Given the description of an element on the screen output the (x, y) to click on. 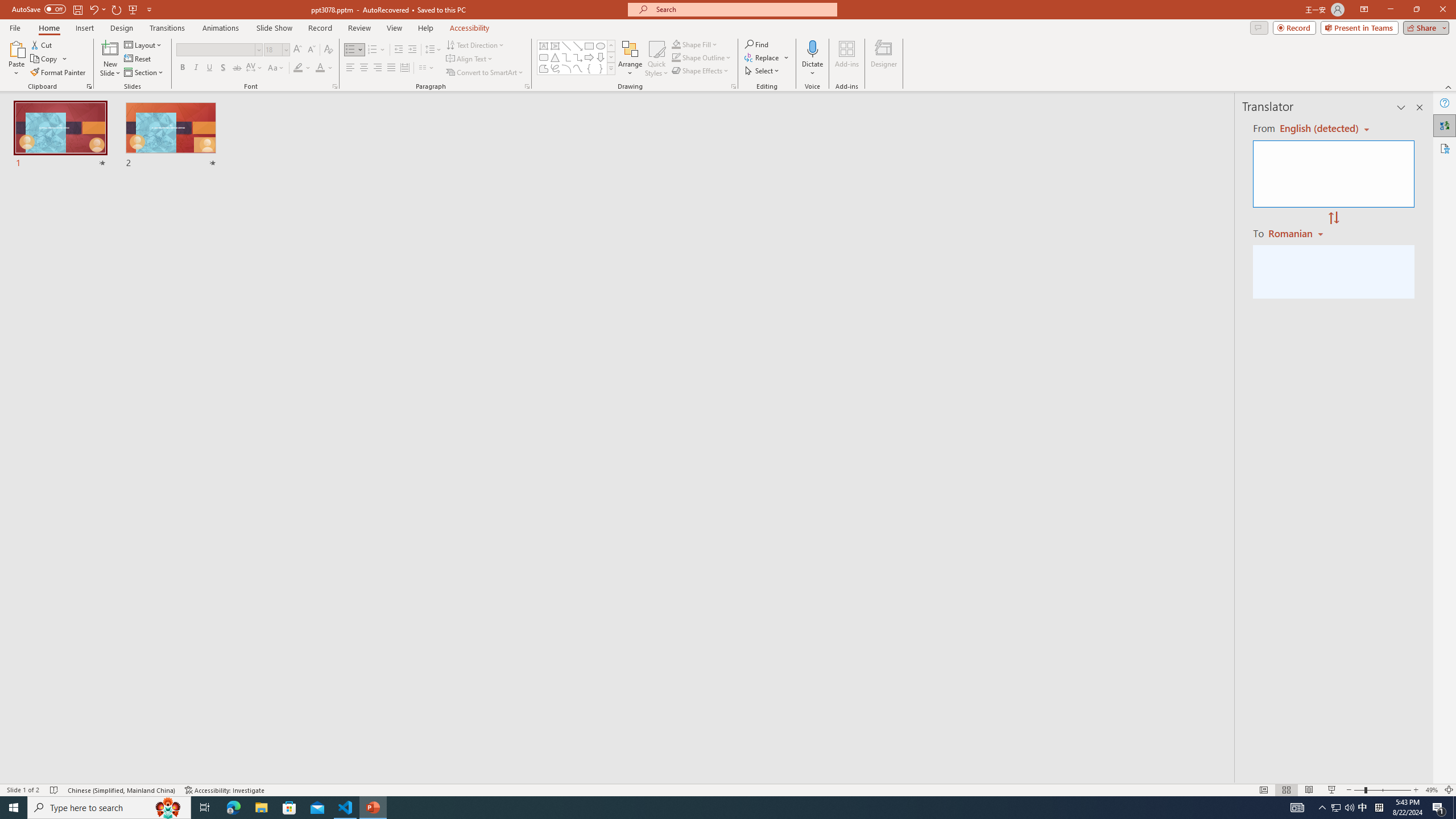
Shape Outline Green, Accent 1 (675, 56)
Zoom 49% (1431, 790)
